Given the description of an element on the screen output the (x, y) to click on. 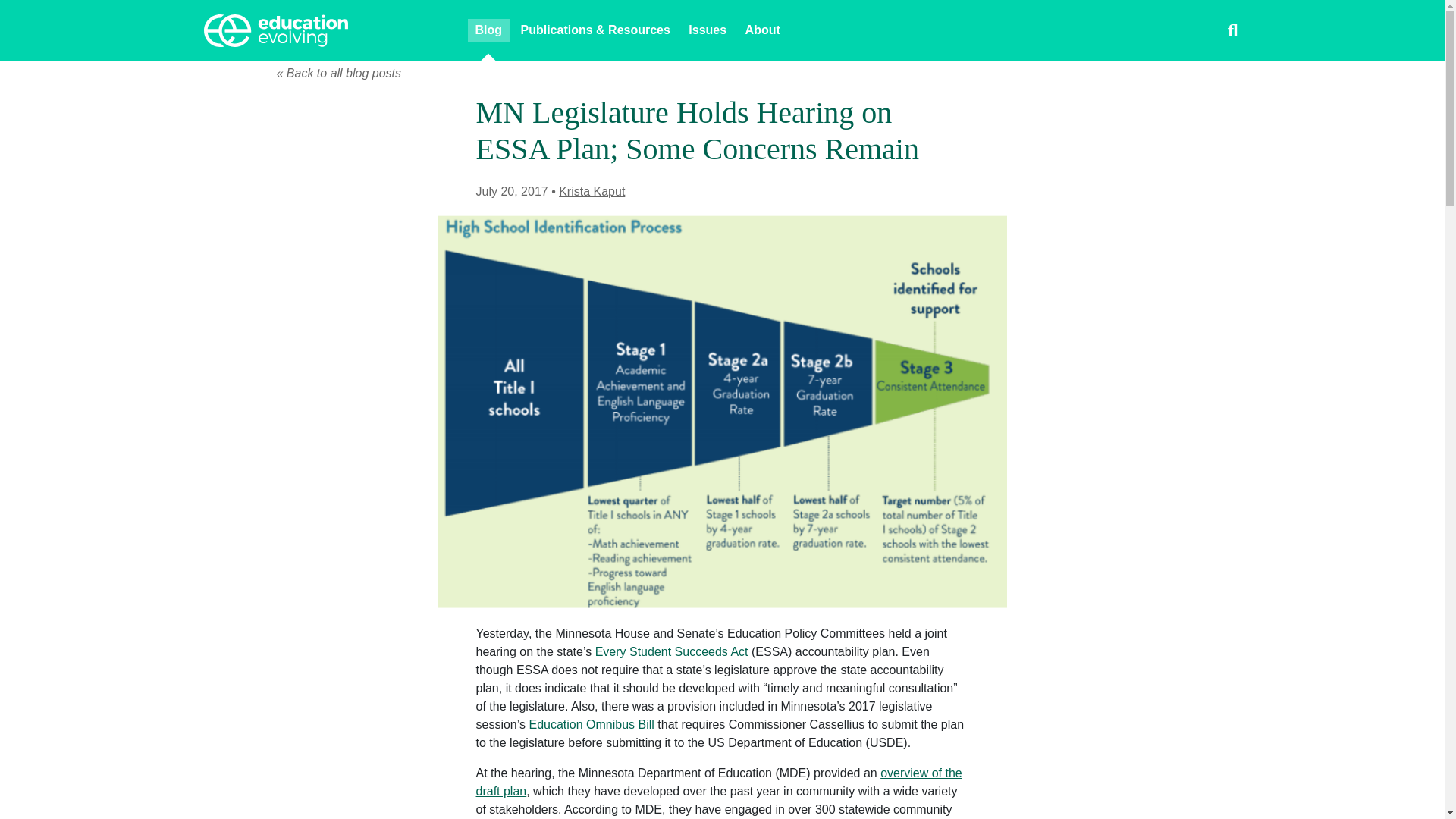
Issues (707, 29)
Krista Kaput (591, 191)
Education Evolving (325, 30)
Every Student Succeeds Act (671, 651)
overview of the draft plan (719, 781)
Blog (488, 29)
Education Omnibus Bill (590, 724)
Education Evolving home page (325, 30)
About (762, 29)
